Given the description of an element on the screen output the (x, y) to click on. 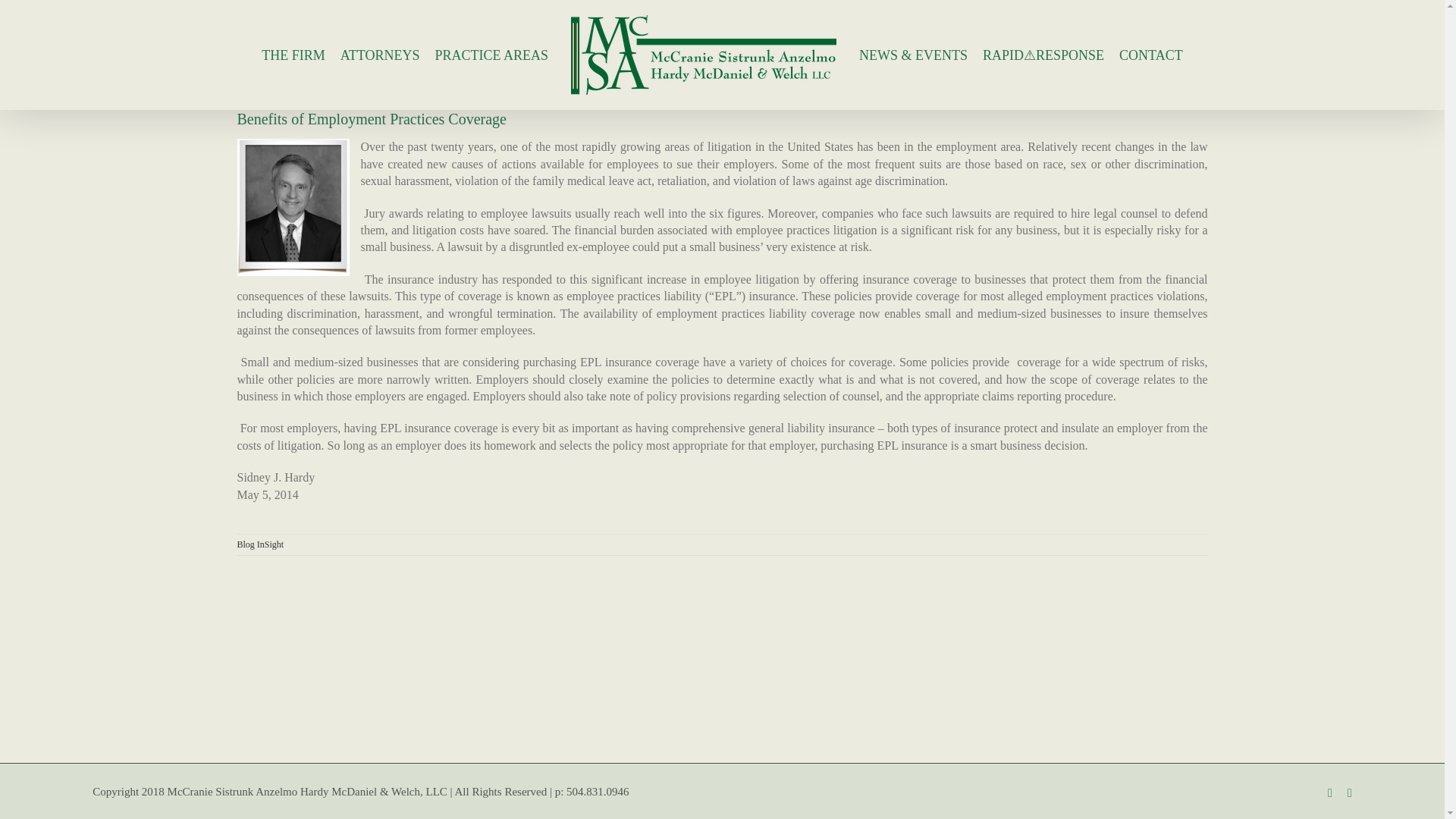
CONTACT (1151, 54)
THE FIRM (293, 54)
PRACTICE AREAS (492, 54)
Blog InSight (259, 543)
ATTORNEYS (380, 54)
